Given the description of an element on the screen output the (x, y) to click on. 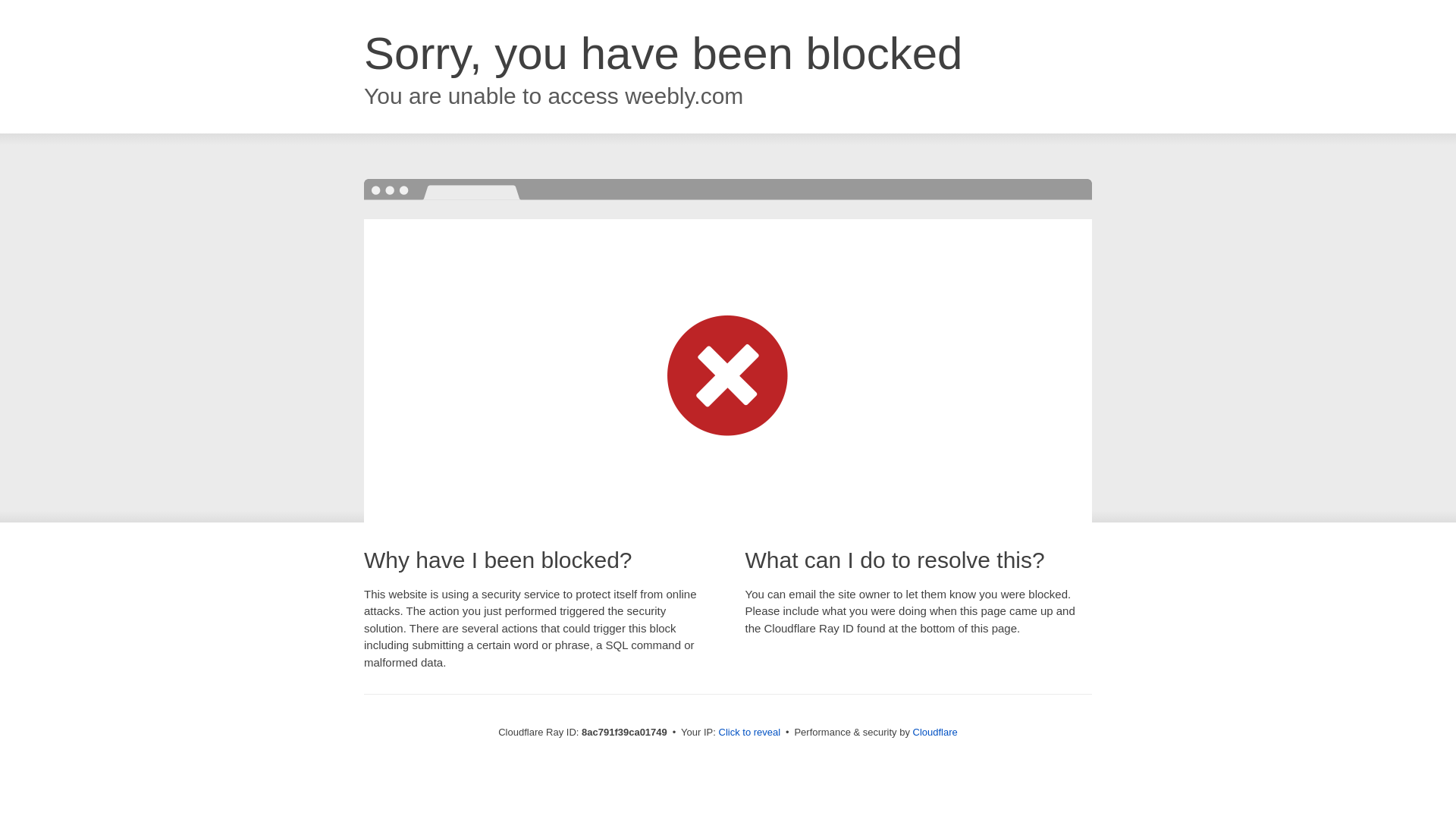
Click to reveal (749, 732)
Cloudflare (935, 731)
